Given the description of an element on the screen output the (x, y) to click on. 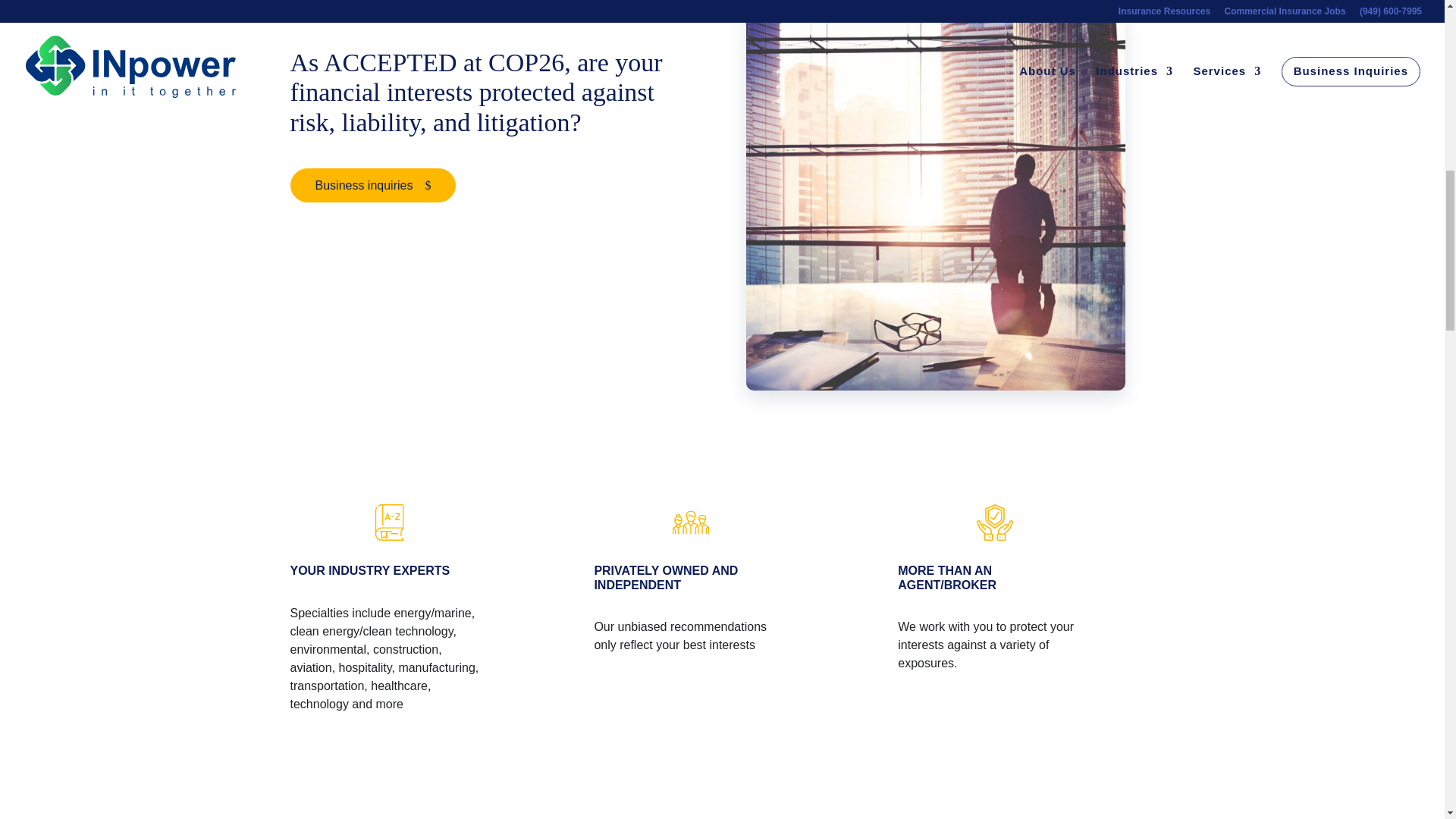
group (690, 522)
shield (994, 522)
encyclopedia (386, 522)
